Given the description of an element on the screen output the (x, y) to click on. 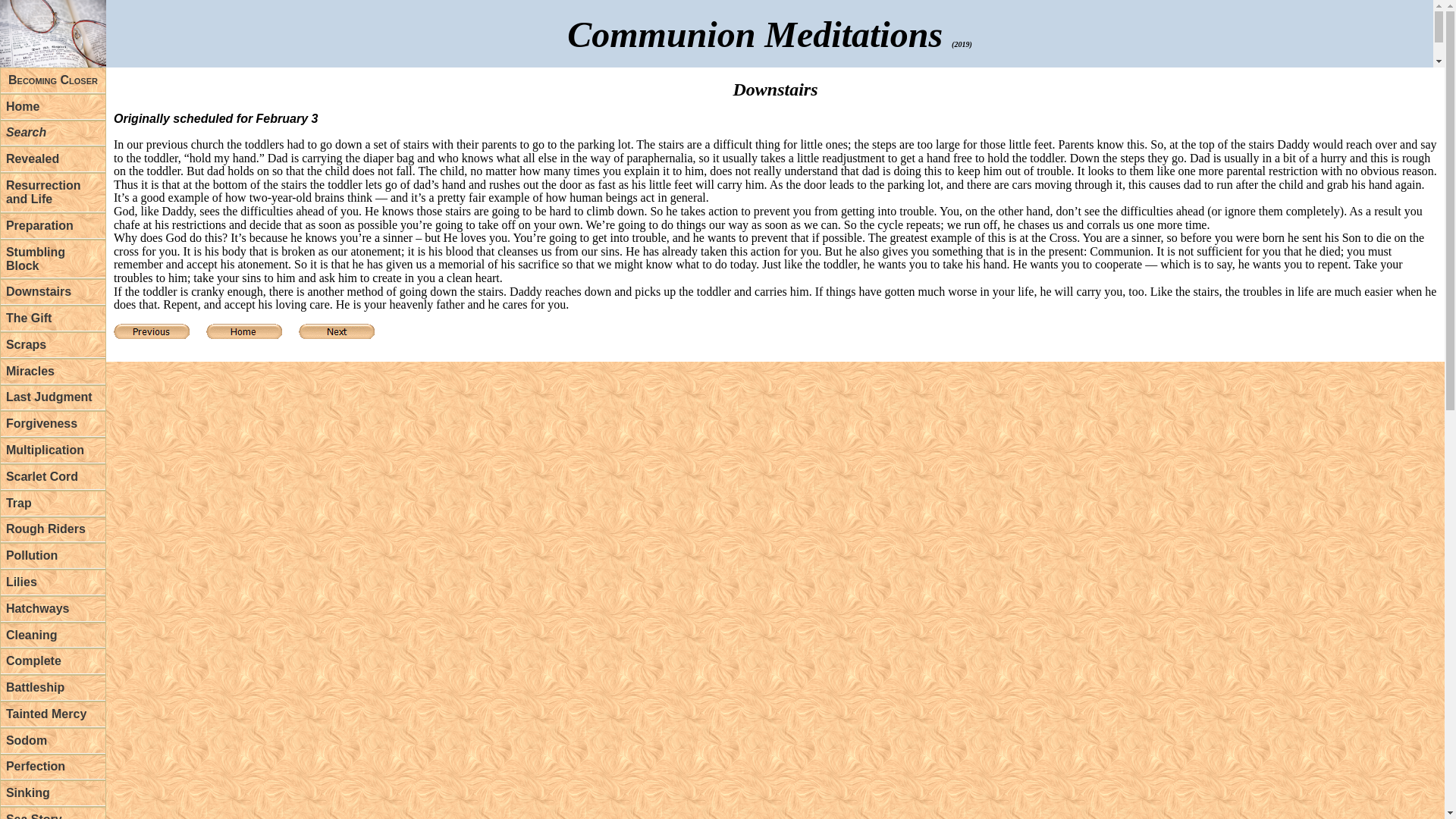
Forgiveness (52, 423)
Pollution (52, 555)
Hatchways (52, 609)
The Gift (52, 318)
Sodom (52, 740)
Trap (52, 503)
Miracles (52, 371)
Home (52, 107)
Cleaning (52, 635)
Scarlet Cord (52, 477)
A communion meditation based on Psalm 131. (52, 226)
